Given the description of an element on the screen output the (x, y) to click on. 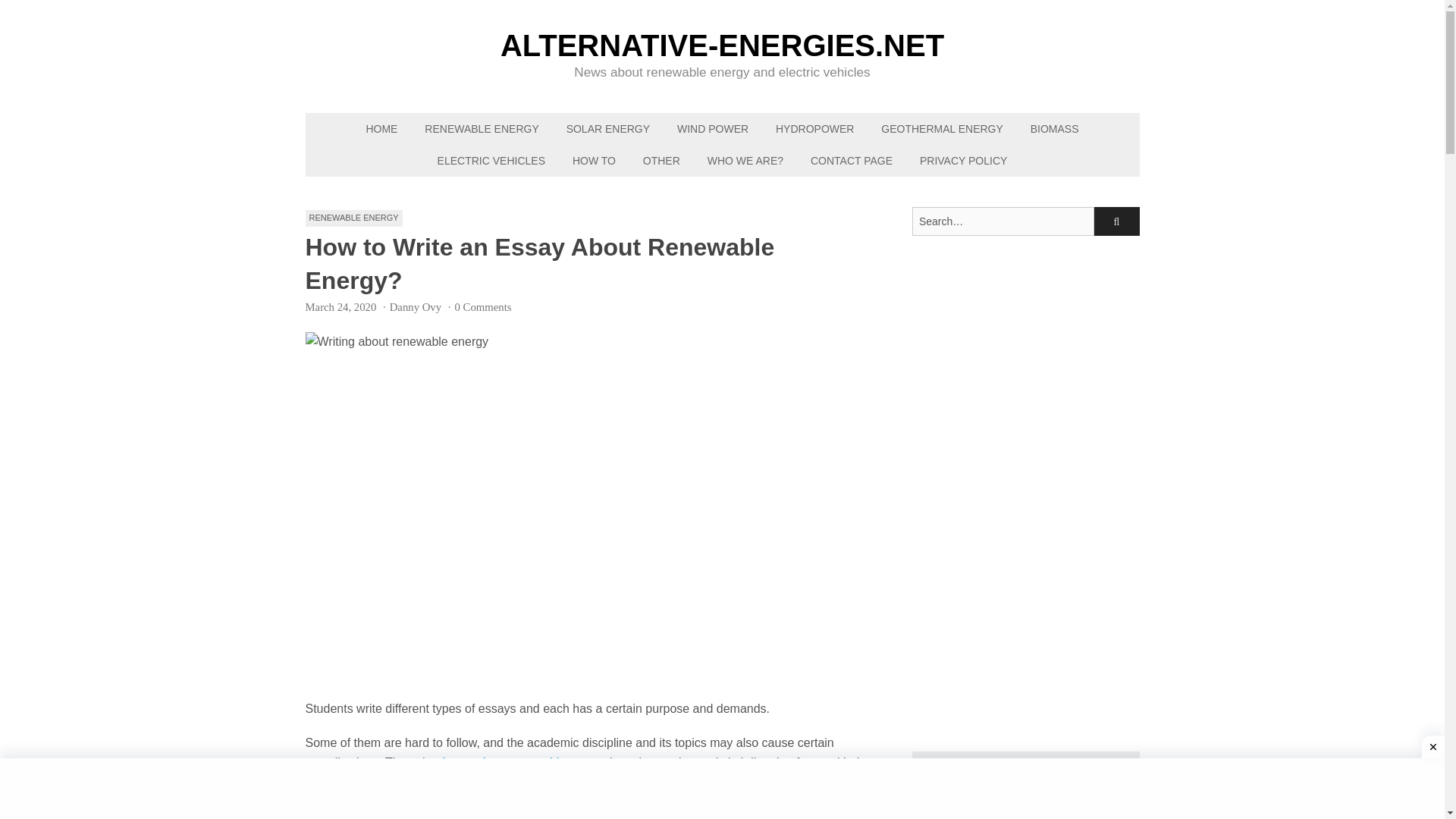
0 Comments (482, 306)
GEOTHERMAL ENERGY (941, 128)
Posts by Danny Ovy (415, 306)
HOME (381, 128)
WHO WE ARE? (744, 160)
HYDROPOWER (814, 128)
PRIVACY POLICY (963, 160)
ALTERNATIVE-ENERGIES.NET (721, 45)
Danny Ovy (415, 306)
WIND POWER (712, 128)
